Given the description of an element on the screen output the (x, y) to click on. 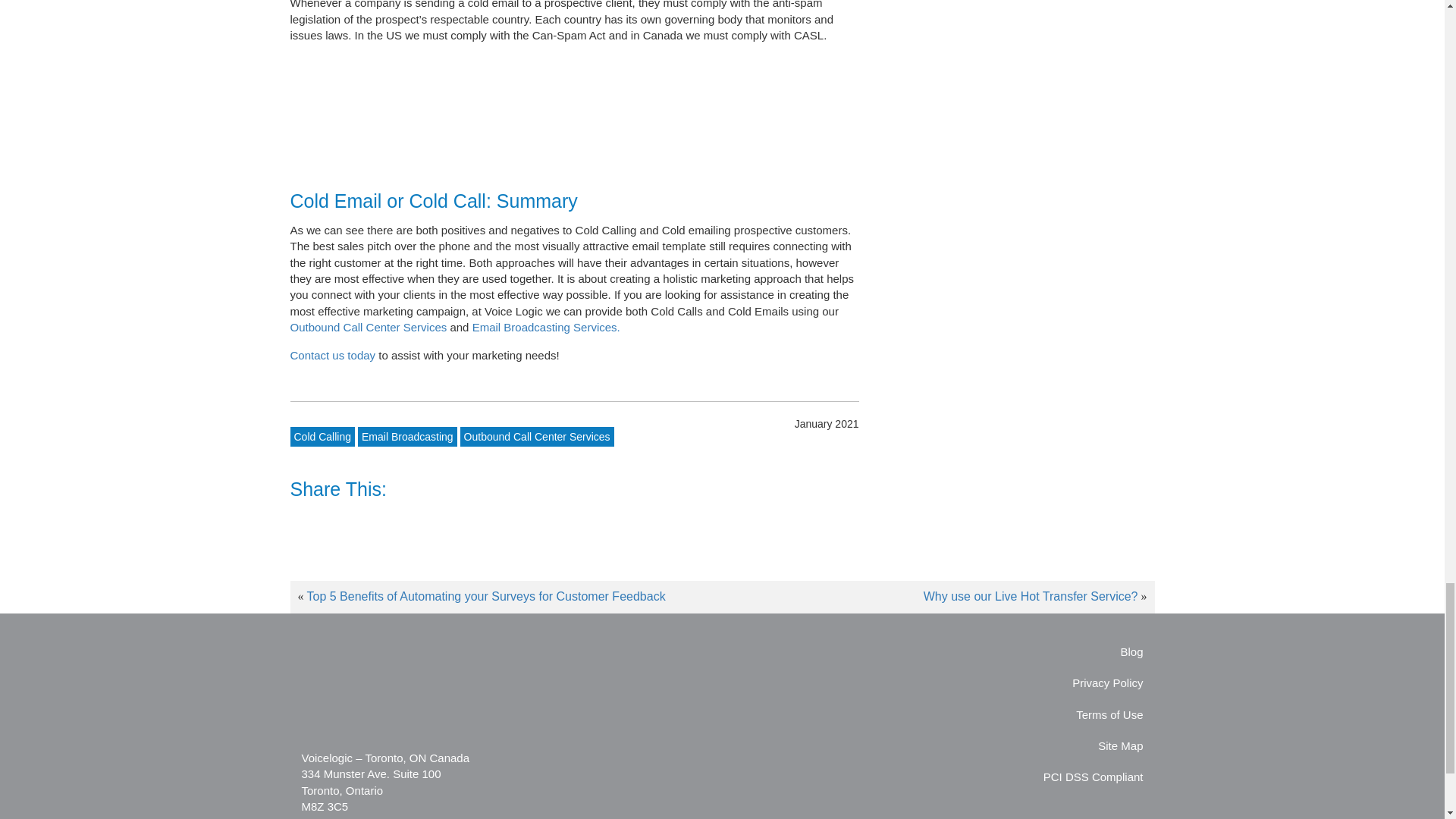
Outbound Call Center Services (537, 436)
Outbound Call Center Services (369, 327)
Contact us today (332, 354)
Email Broadcasting Services. (545, 327)
Email Broadcasting (407, 436)
Cold Calling (321, 436)
